Given the description of an element on the screen output the (x, y) to click on. 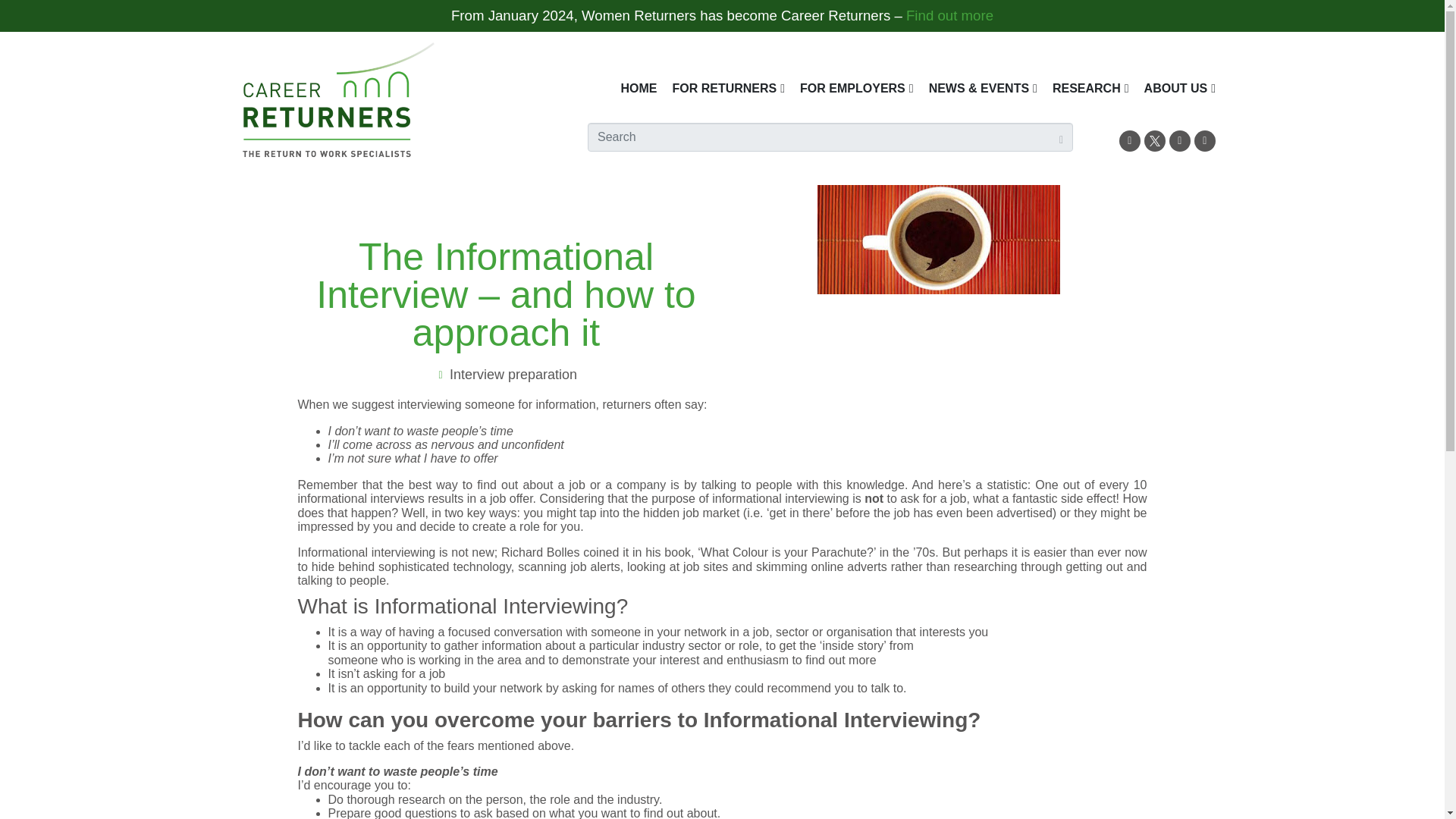
FOR RETURNERS (727, 88)
HOME (637, 88)
Find out more (948, 15)
FOR EMPLOYERS (856, 88)
